Given the description of an element on the screen output the (x, y) to click on. 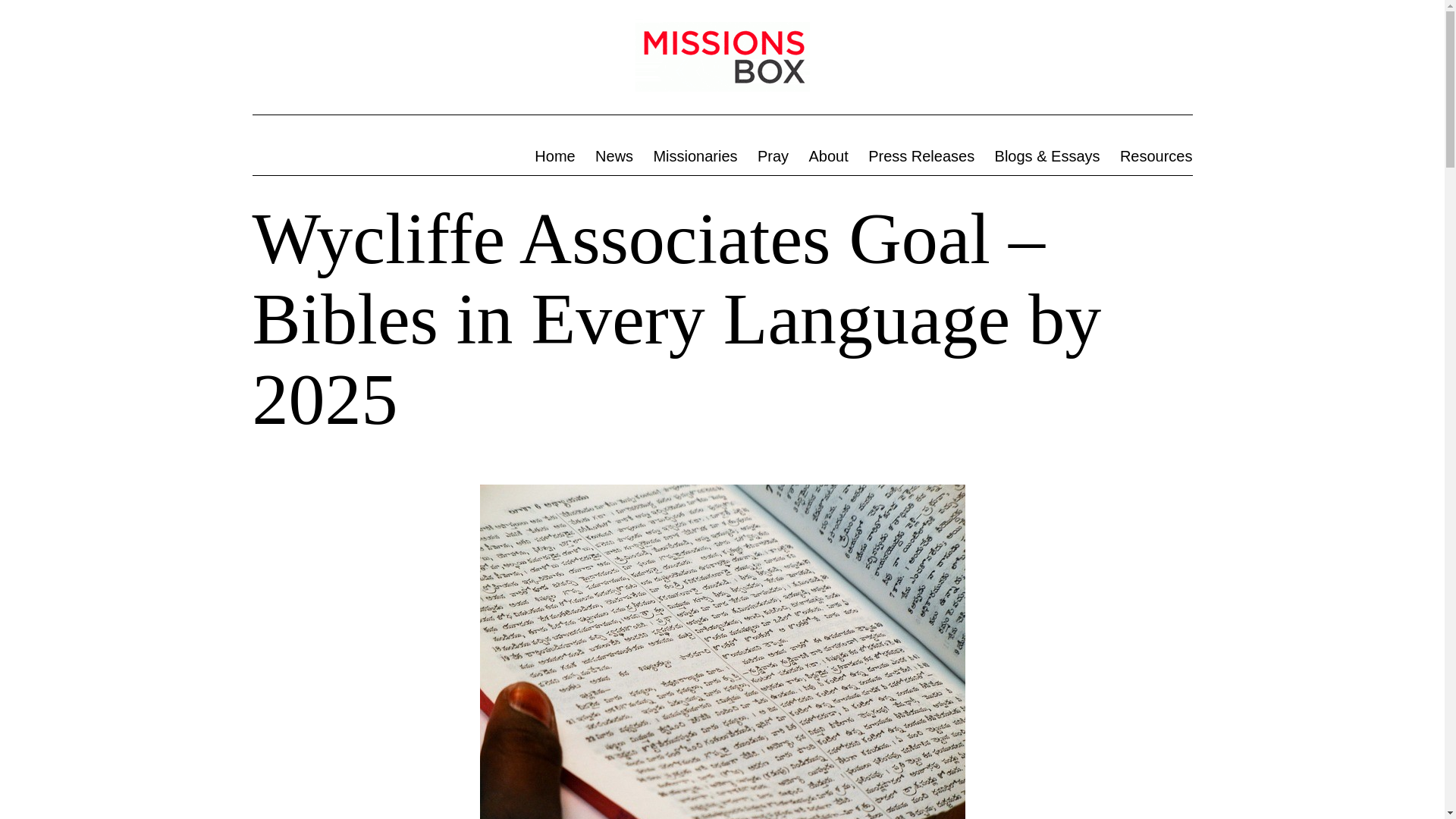
About (828, 156)
Home (554, 156)
Missions Box Home Page (554, 156)
Press Releases (921, 156)
About (828, 156)
Missions Box Press Releases (921, 156)
News (614, 156)
Resources (1155, 156)
Pray (773, 156)
Missionaries (695, 156)
